Given the description of an element on the screen output the (x, y) to click on. 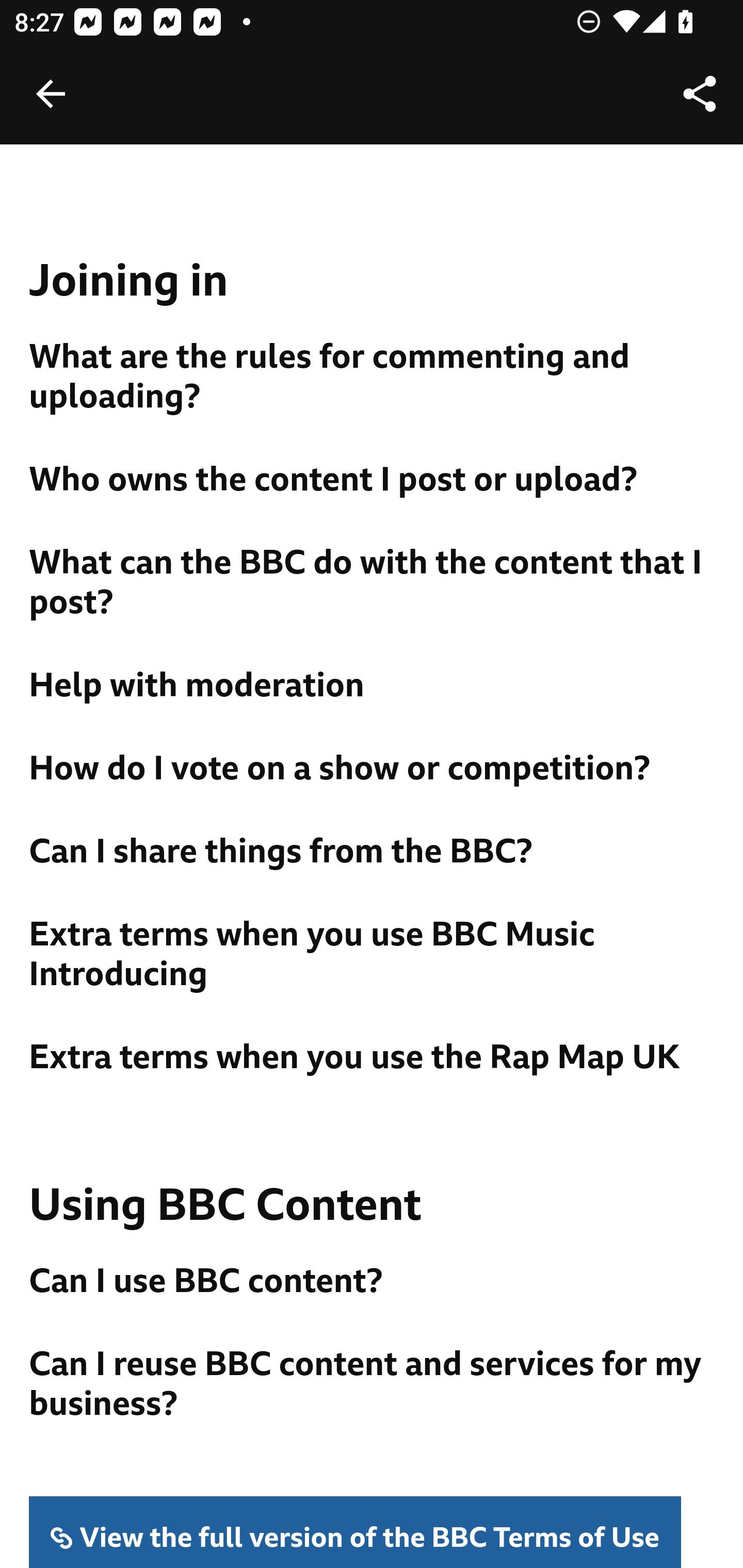
Back (50, 93)
Share (699, 93)
What are the rules for commenting and uploading? (372, 377)
Who owns the content I post or upload? (372, 480)
What can the BBC do with the content that I post? (372, 583)
Help with moderation (372, 686)
How do I vote on a show or competition? (372, 769)
Can I share things from the BBC? (372, 852)
Extra terms when you use BBC Music Introducing (372, 956)
Extra terms when you use the Rap Map UK (372, 1058)
Can I use BBC content? (372, 1282)
View the full version of the BBC Terms of Use (355, 1531)
